Given the description of an element on the screen output the (x, y) to click on. 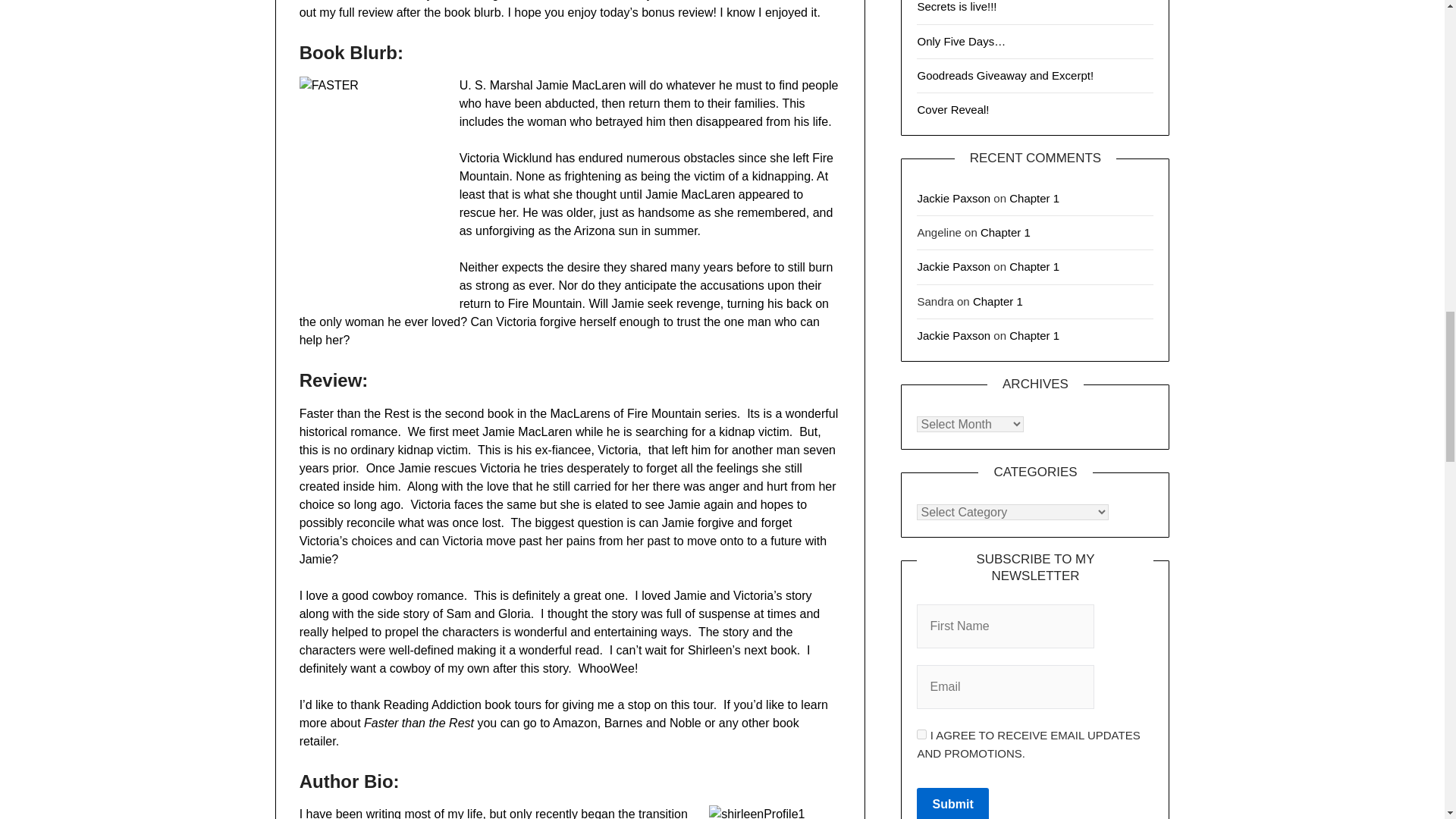
1 (921, 734)
